Given the description of an element on the screen output the (x, y) to click on. 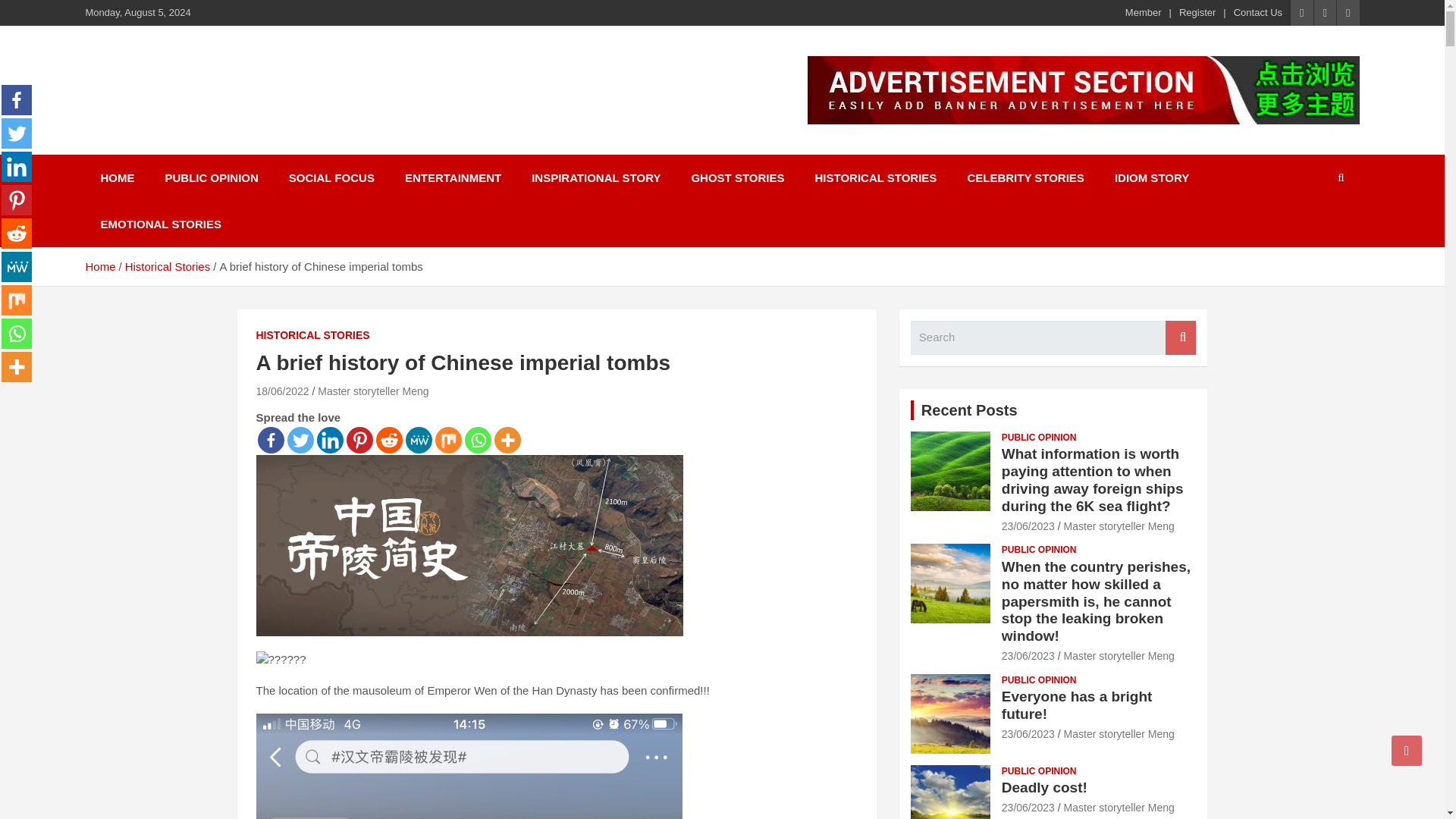
Twitter (16, 132)
Reddit (16, 233)
EMOTIONAL STORIES (159, 223)
PUBLIC OPINION (211, 177)
Reddit (389, 439)
Historical Stories (168, 266)
Master storyteller Meng (372, 390)
GHOST STORIES (737, 177)
HISTORICAL STORIES (312, 335)
MeWe (417, 439)
A brief history of Chinese imperial tombs (282, 390)
HISTORICAL STORIES (875, 177)
Home (99, 266)
Linkedin (16, 166)
IDIOM STORY (1151, 177)
